Given the description of an element on the screen output the (x, y) to click on. 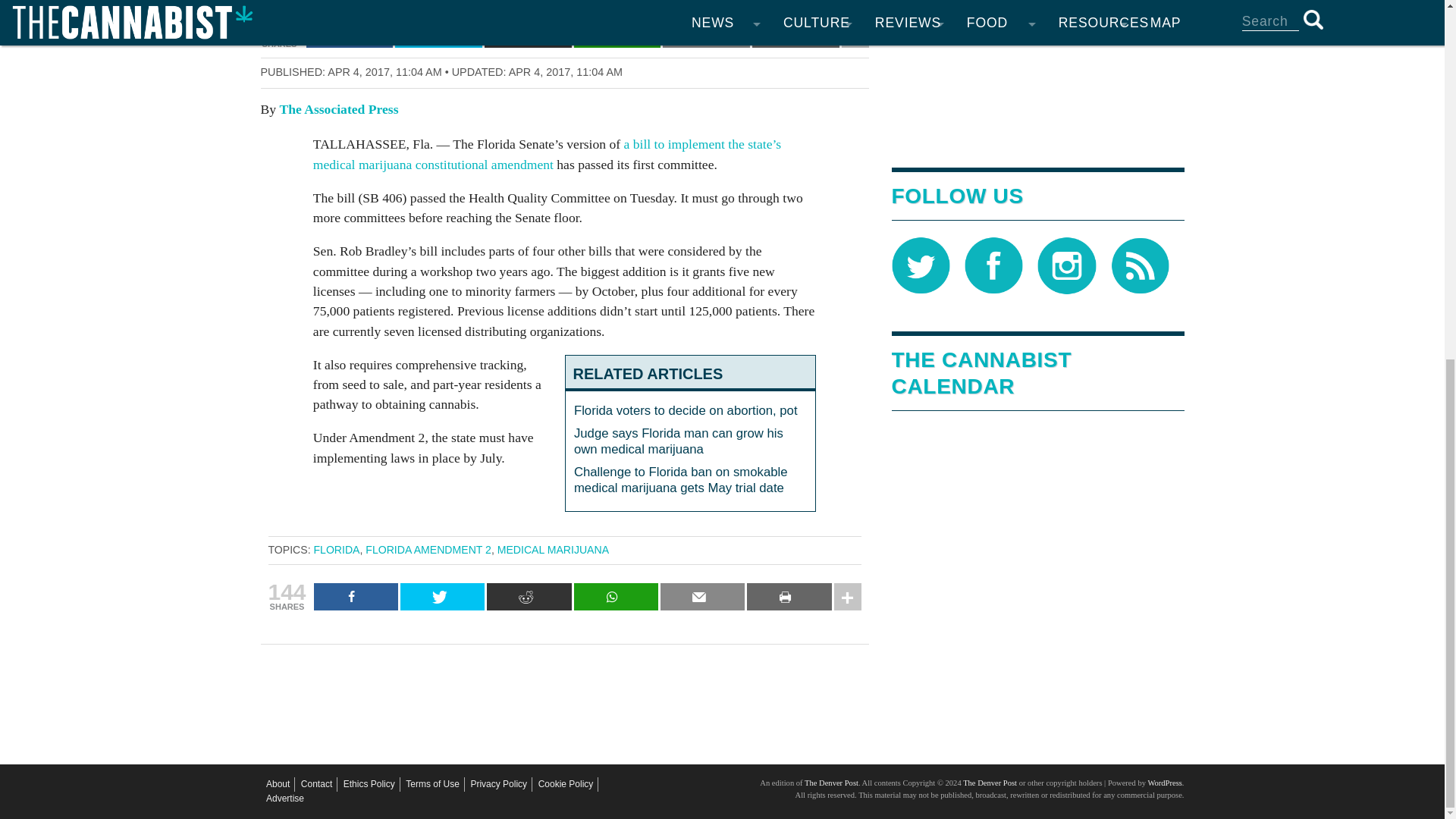
Follow The Cannabist via RSS (1139, 264)
The Denver Post (989, 782)
Contact The Cannabist (316, 784)
Follow The Cannabist on Instagram (1066, 264)
About The Cannabist (277, 784)
Like The Cannabist on Facebook (993, 264)
Advertise on The Cannabist (285, 798)
Denver Post Privacy Policy (498, 784)
Follow The Cannabist on Twitter (920, 264)
Personal Publishing Platform (1163, 782)
Denver Post Ethics Policy (368, 784)
The Denver Post (832, 782)
Denver Post Terms of Use (433, 784)
